Given the description of an element on the screen output the (x, y) to click on. 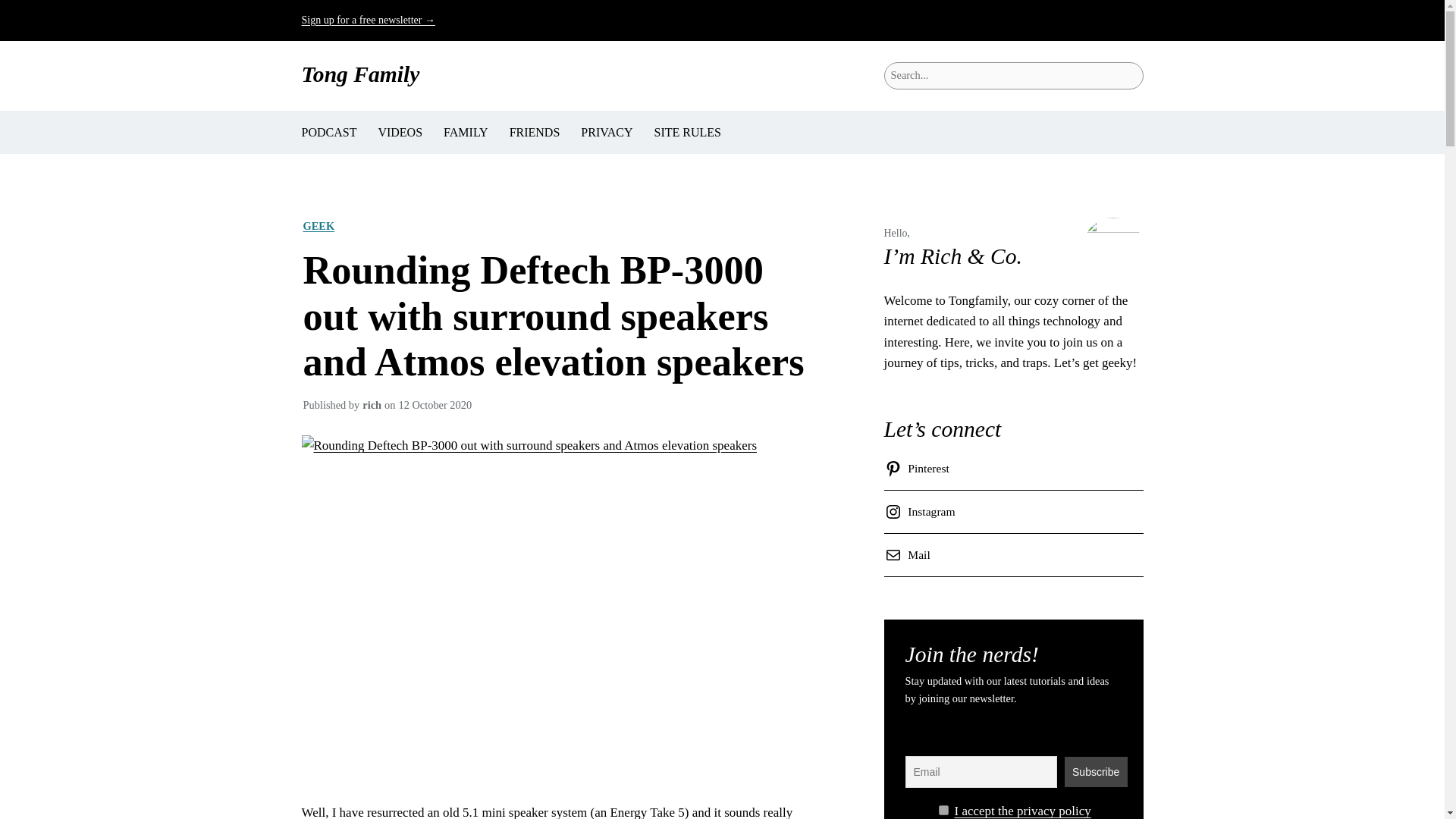
12 October 2020 (434, 404)
SITE RULES (686, 132)
FAMILY (465, 132)
VIDEOS (399, 132)
Tong Family (360, 74)
FRIENDS (534, 132)
on (944, 809)
PRIVACY (605, 132)
GEEK (318, 225)
